Given the description of an element on the screen output the (x, y) to click on. 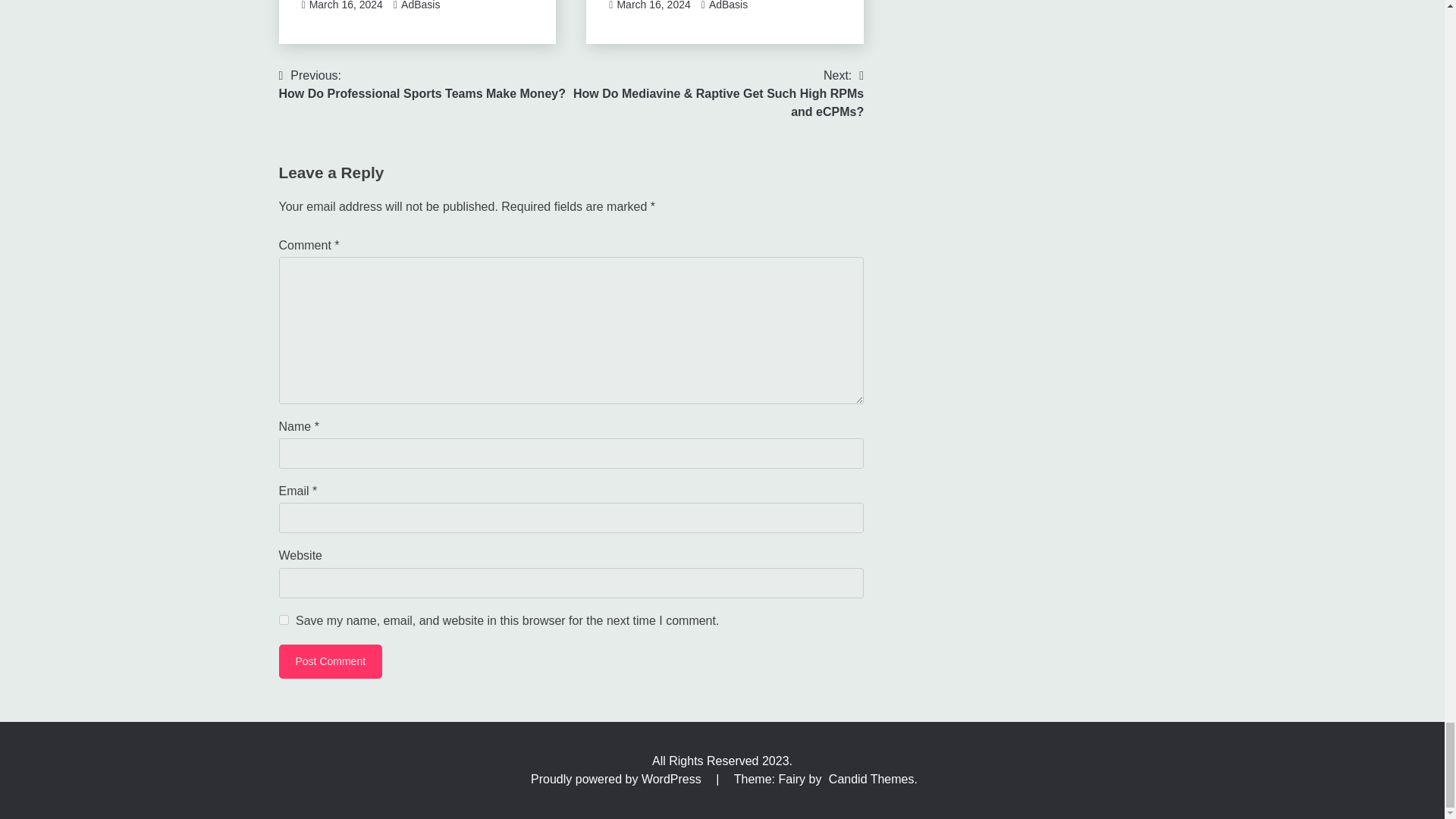
Post Comment (330, 661)
AdBasis (420, 5)
yes (283, 619)
March 16, 2024 (345, 5)
